Given the description of an element on the screen output the (x, y) to click on. 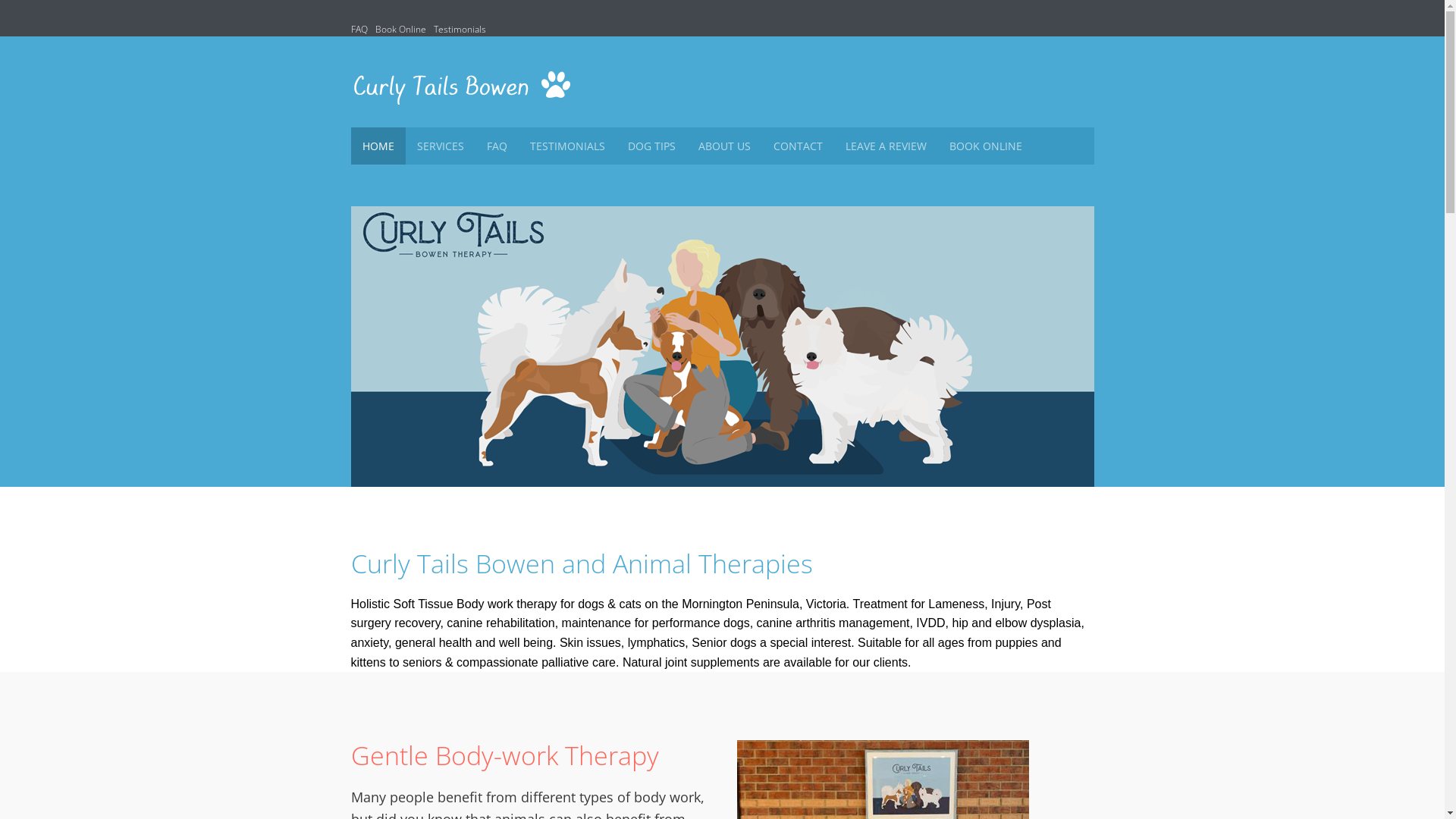
Book Online Element type: text (399, 28)
FAQ Element type: text (358, 28)
DOG TIPS Element type: text (650, 145)
FAQ Element type: text (495, 145)
HOME Element type: text (377, 145)
BOOK ONLINE Element type: text (984, 145)
Testimonials Element type: text (459, 28)
LEAVE A REVIEW Element type: text (886, 145)
TESTIMONIALS Element type: text (567, 145)
ABOUT US Element type: text (724, 145)
SERVICES Element type: text (439, 145)
CONTACT Element type: text (797, 145)
